Given the description of an element on the screen output the (x, y) to click on. 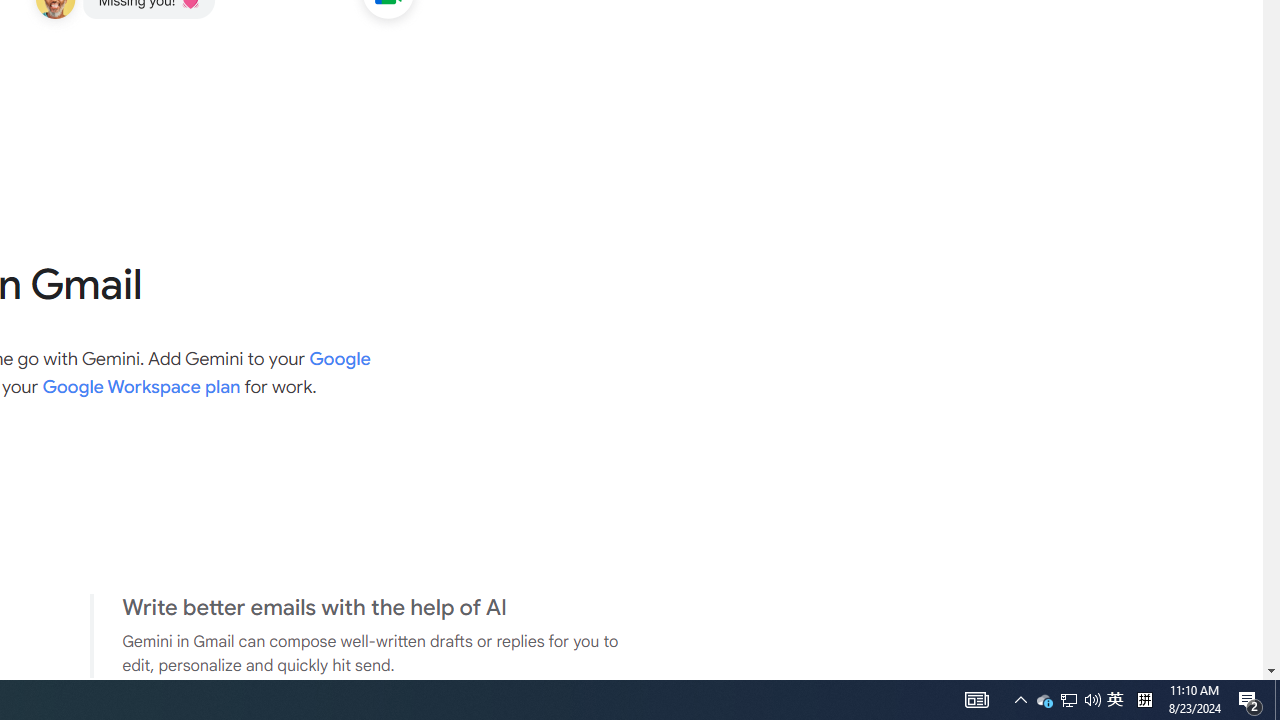
Q2790: 100% (1069, 699)
Show desktop (1092, 699)
Notification Chevron (1277, 699)
AutomationID: 4105 (1020, 699)
Action Center, 2 new notifications (976, 699)
User Promoted Notification Area (1115, 699)
Google Workspace plan (1250, 699)
Tray Input Indicator - Chinese (Simplified, China) (1044, 699)
